Given the description of an element on the screen output the (x, y) to click on. 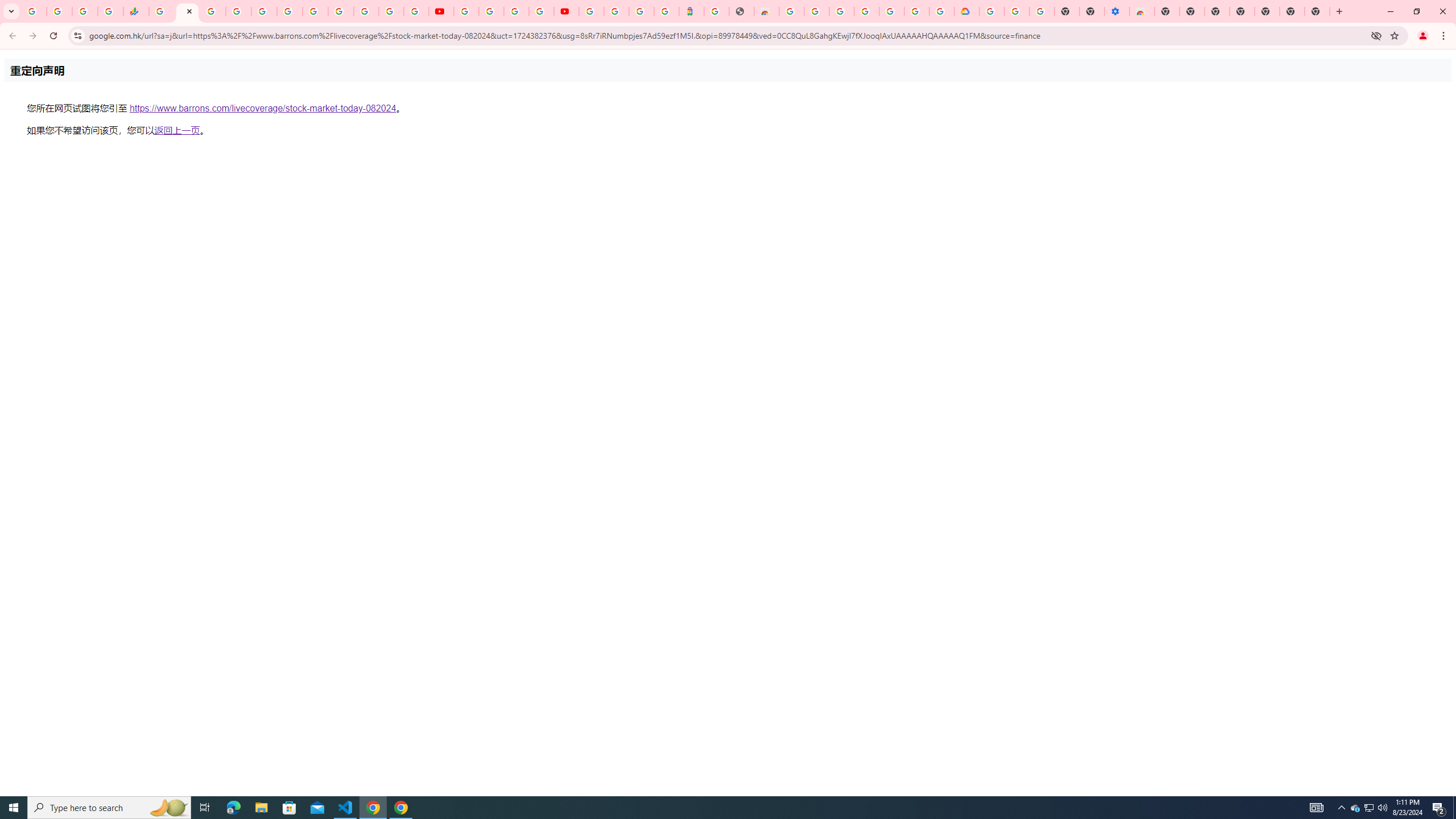
Sign in - Google Accounts (841, 11)
Chrome Web Store - Accessibility extensions (1141, 11)
Turn cookies on or off - Computer - Google Account Help (1042, 11)
Chrome Web Store - Household (766, 11)
Content Creator Programs & Opportunities - YouTube Creators (565, 11)
Sign in - Google Accounts (616, 11)
Sign in - Google Accounts (991, 11)
